Given the description of an element on the screen output the (x, y) to click on. 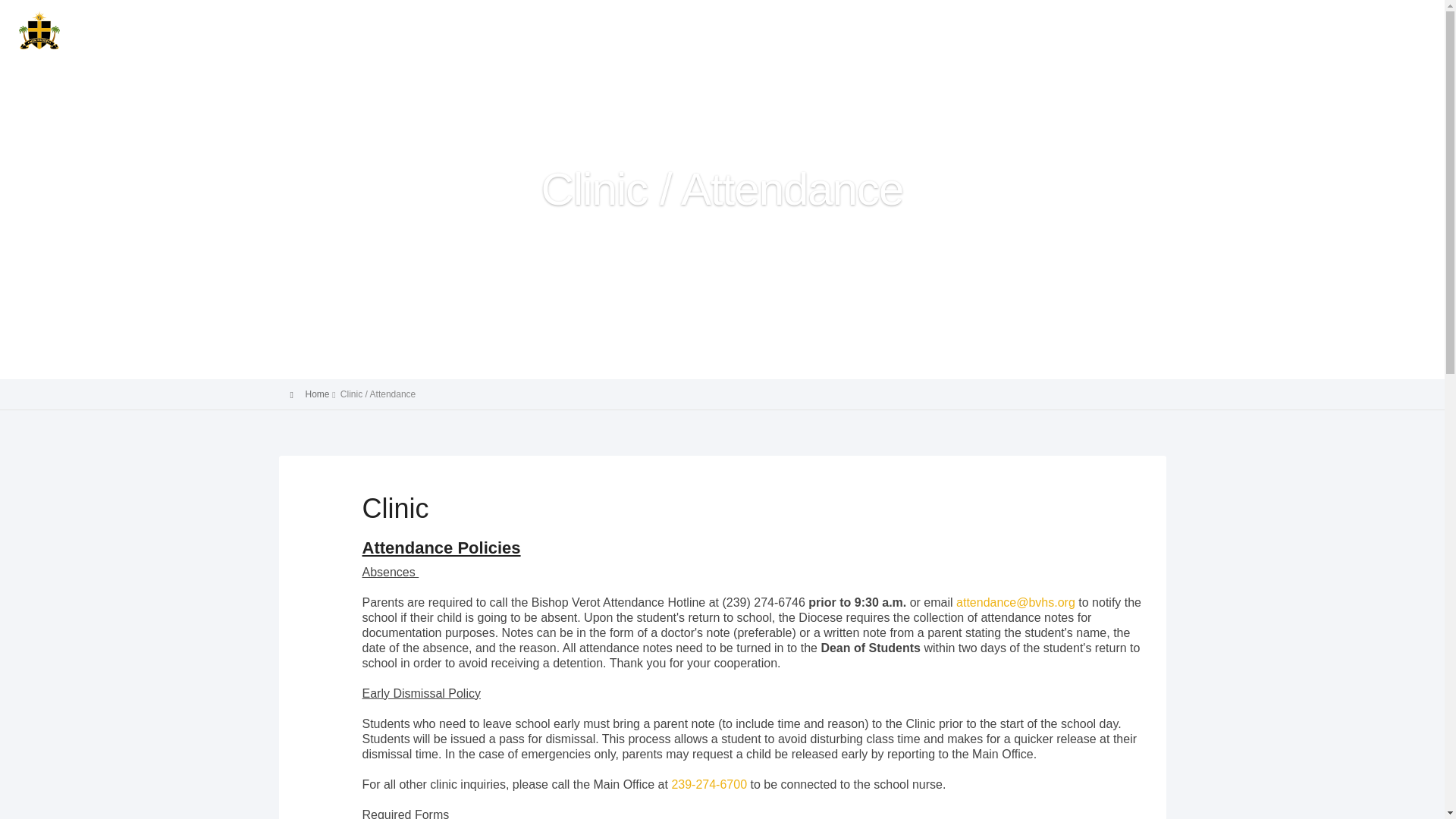
FAITH (641, 26)
LOGIN (1371, 26)
ADMISSIONS (710, 26)
ATHLETICS (877, 26)
Home (316, 394)
STUDENT LIFE (1133, 26)
ADVANCEMENT (1035, 26)
CALENDAR (1231, 26)
ACADEMICS (796, 26)
DONATE (1311, 26)
239-274-6700 (708, 784)
ARTS (951, 26)
